Given the description of an element on the screen output the (x, y) to click on. 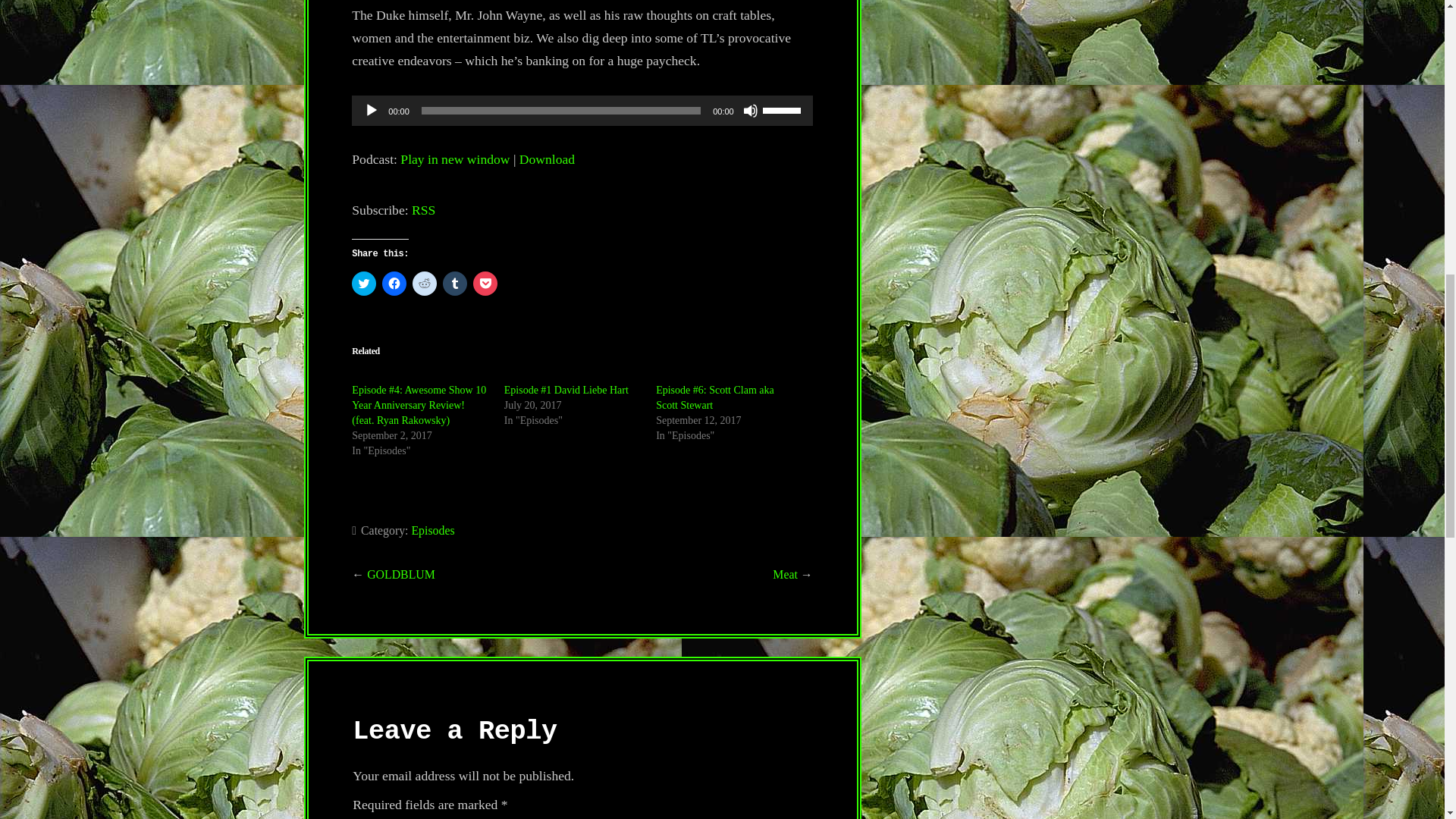
Download (547, 159)
Play (371, 110)
Meat (785, 574)
Play in new window (454, 159)
Click to share on Tumblr (454, 283)
Download (547, 159)
GOLDBLUM (400, 574)
Click to share on Twitter (363, 283)
Click to share on Pocket (485, 283)
RSS (423, 209)
Play in new window (454, 159)
Click to share on Reddit (424, 283)
Episodes (432, 530)
Click to share on Facebook (393, 283)
Mute (750, 110)
